Given the description of an element on the screen output the (x, y) to click on. 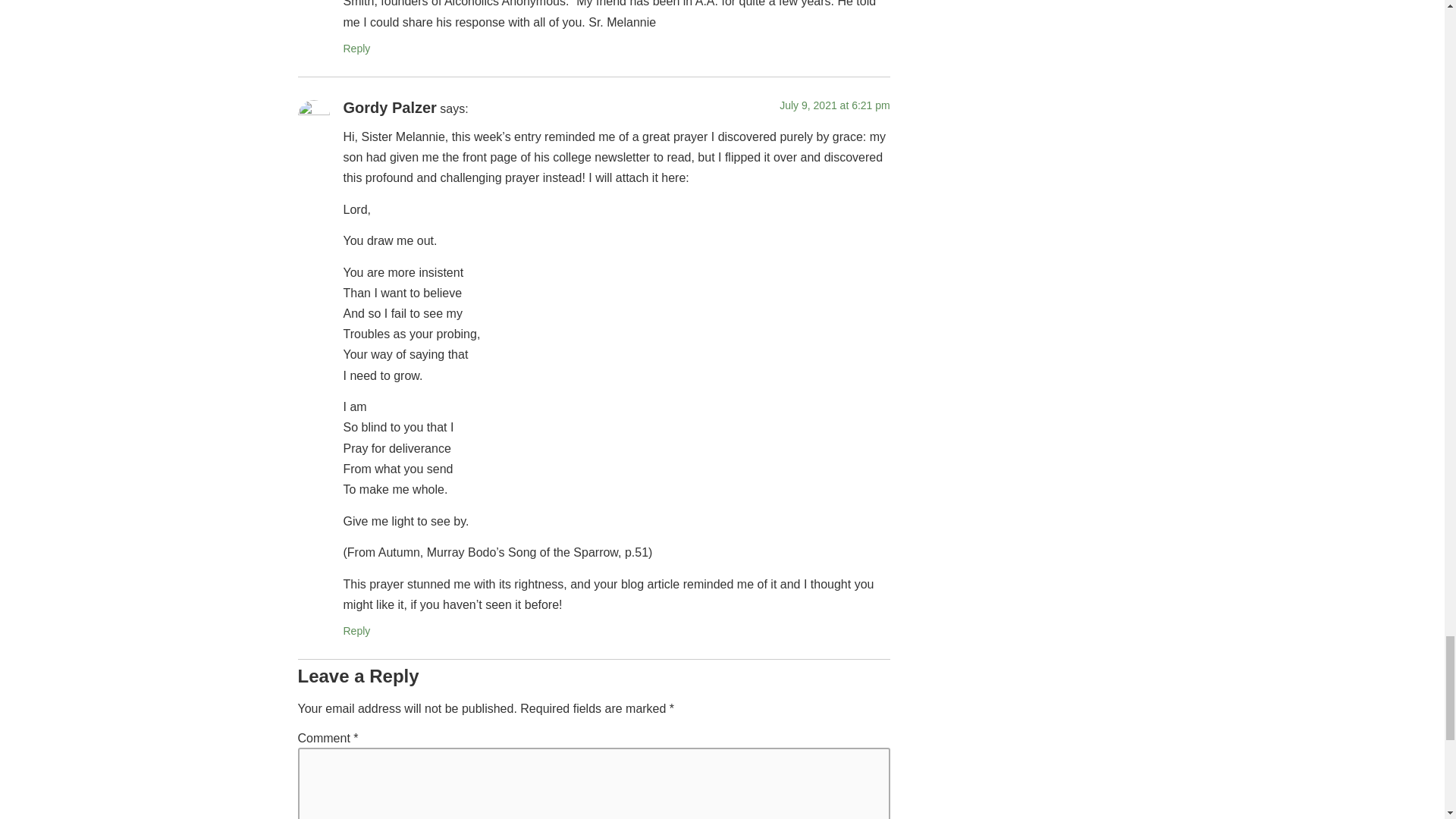
July 9, 2021 at 6:21 pm (833, 105)
Reply (355, 48)
Reply (355, 630)
